Given the description of an element on the screen output the (x, y) to click on. 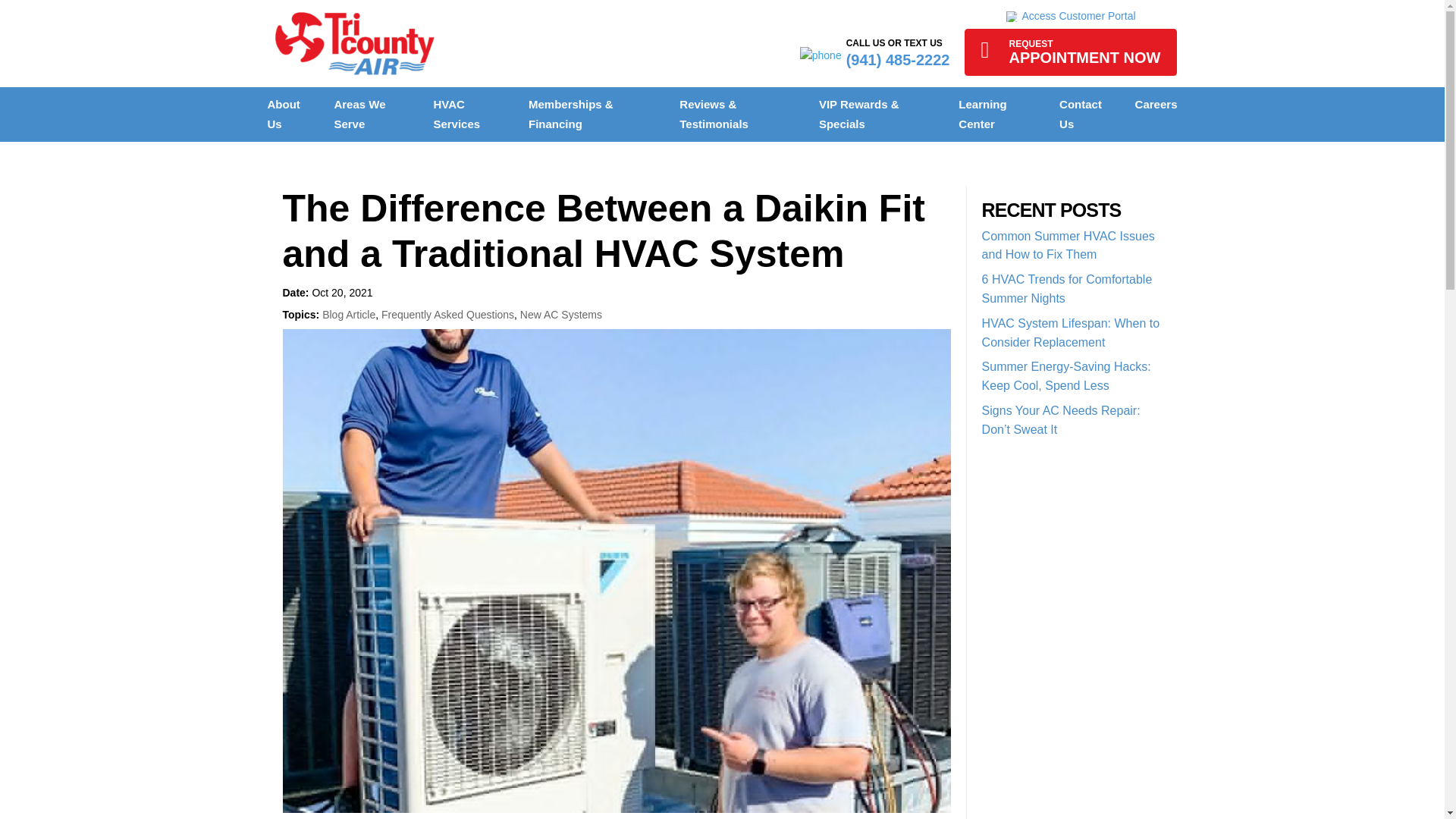
HVAC Services (1069, 52)
Areas We Serve (456, 113)
Access Customer Portal (359, 113)
About Us (1069, 16)
